Given the description of an element on the screen output the (x, y) to click on. 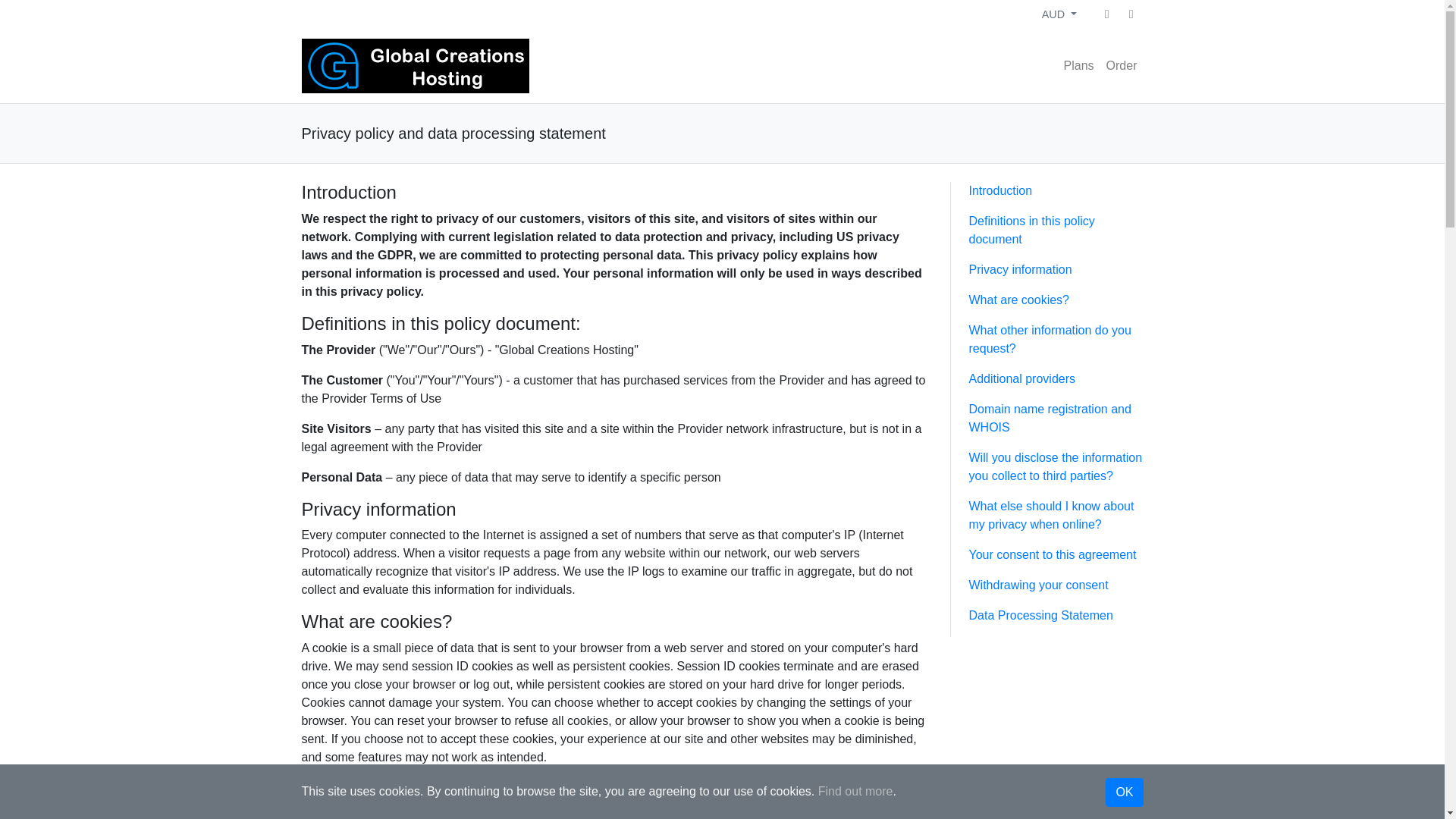
Introduction (1000, 190)
What are cookies? (1019, 299)
Privacy information (1020, 269)
Find out more (855, 790)
Data Processing Statemen (1041, 615)
Order (1121, 65)
What other information do you request? (1050, 338)
Additional providers (1022, 378)
What else should I know about my privacy when online? (1051, 514)
Plans (1079, 65)
OK (1123, 792)
Withdrawing your consent (1038, 584)
AUD (1059, 14)
Domain name registration and WHOIS (1050, 418)
